Given the description of an element on the screen output the (x, y) to click on. 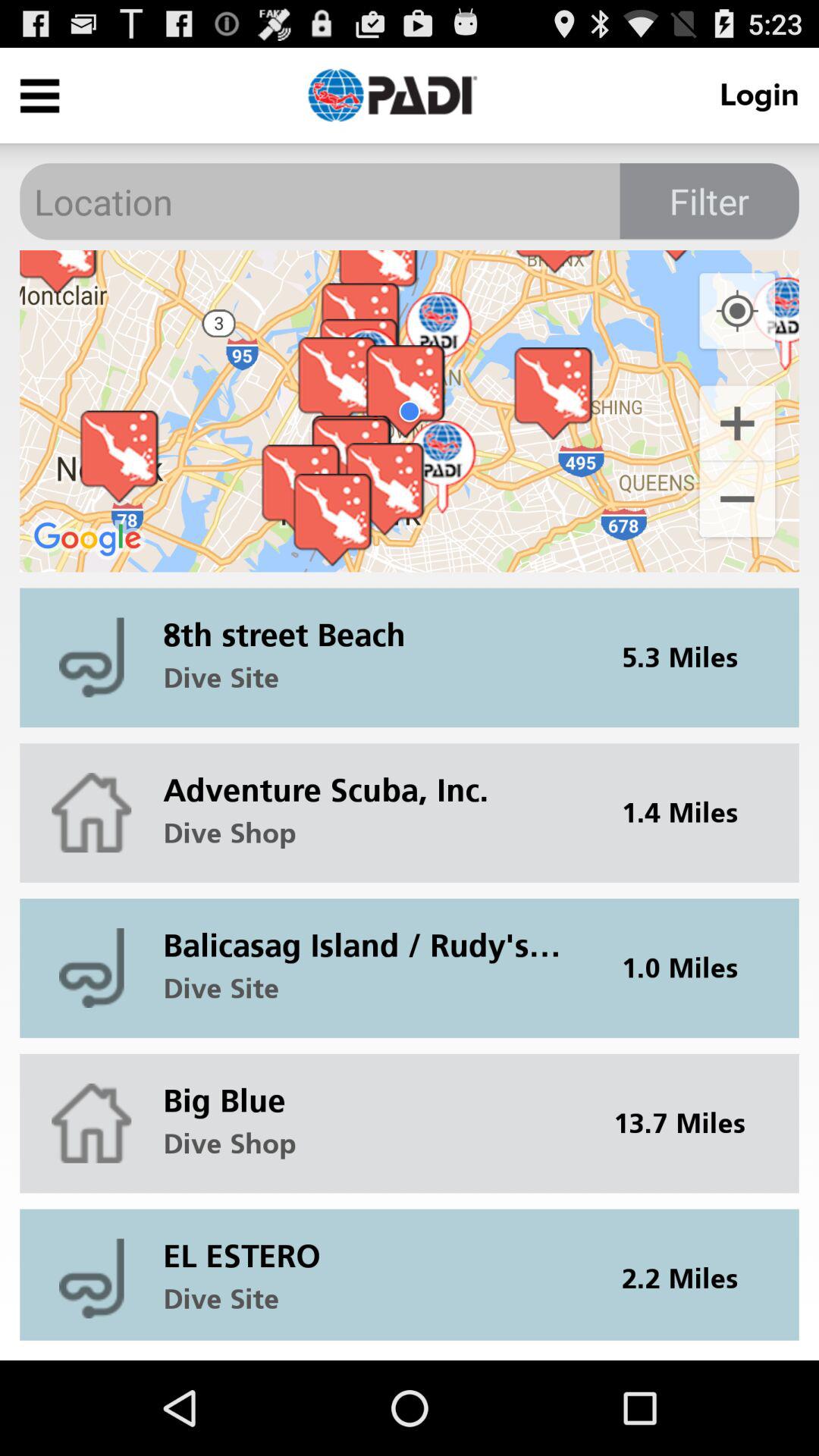
view menu (39, 95)
